Given the description of an element on the screen output the (x, y) to click on. 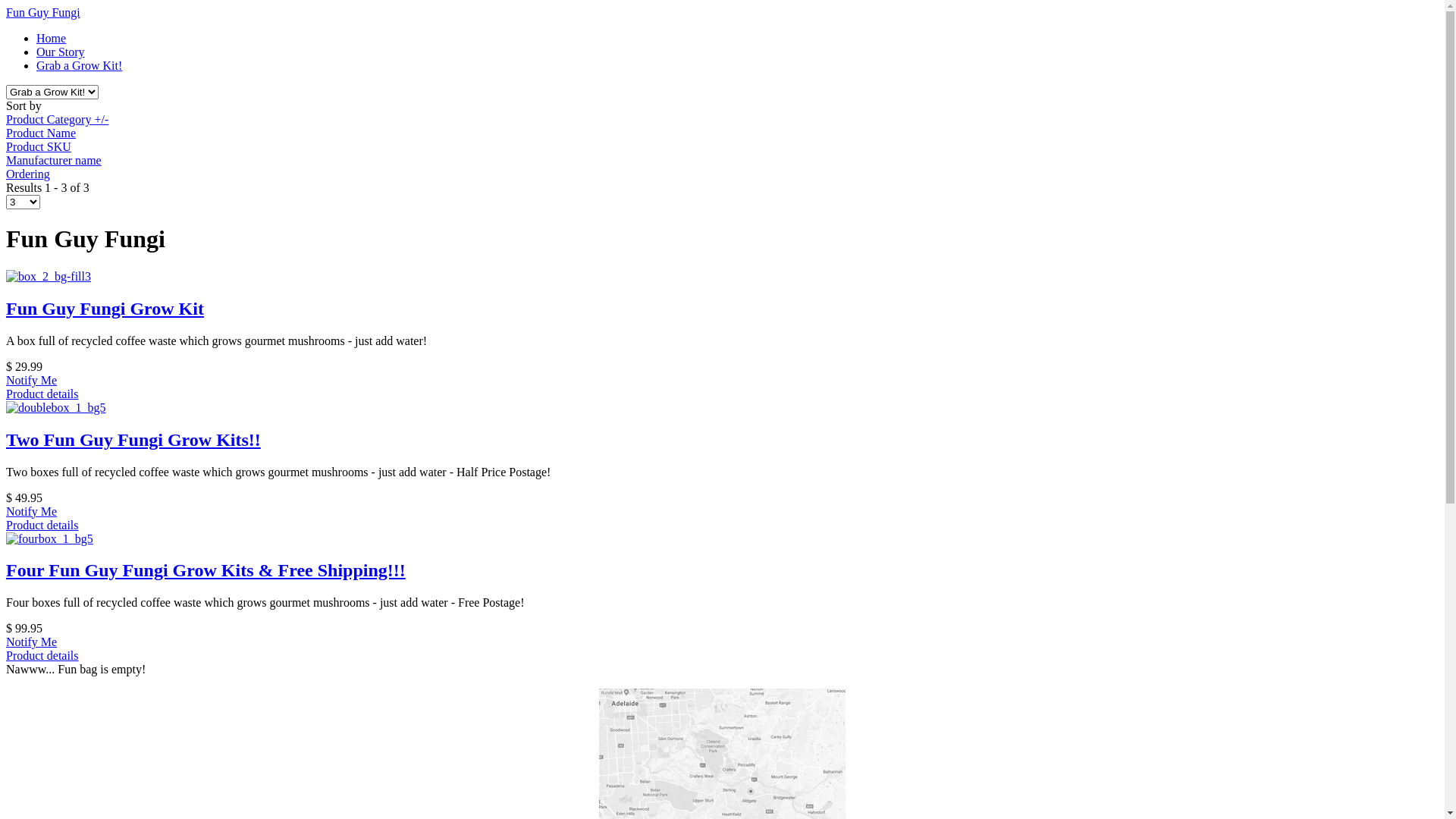
Product details Element type: text (42, 655)
Product Category +/- Element type: text (57, 118)
Product details Element type: text (42, 524)
Ordering Element type: text (28, 173)
Notify Me Element type: text (31, 379)
Fun Guy Fungi Grow Kit Element type: text (104, 308)
Four Fun Guy Fungi Grow Kits & Free Shipping!!! Element type: text (205, 570)
Home Element type: text (50, 37)
Four Fun Guy Fungi Grow Kits & Free Shipping!!! Element type: hover (49, 538)
Notify Me Element type: text (31, 641)
Grab a Grow Kit! Element type: text (79, 65)
Two Fun Guy Fungi Grow Kits!! Element type: hover (56, 407)
Notify Me Element type: text (31, 511)
Fun Guy Fungi Grow Kit Element type: hover (48, 275)
Product Name Element type: text (40, 132)
Product SKU Element type: text (38, 146)
Our Story Element type: text (60, 51)
Two Fun Guy Fungi Grow Kits!! Element type: text (133, 439)
Fun Guy Fungi Element type: text (43, 12)
Product details Element type: text (42, 393)
Manufacturer name Element type: text (53, 159)
